Given the description of an element on the screen output the (x, y) to click on. 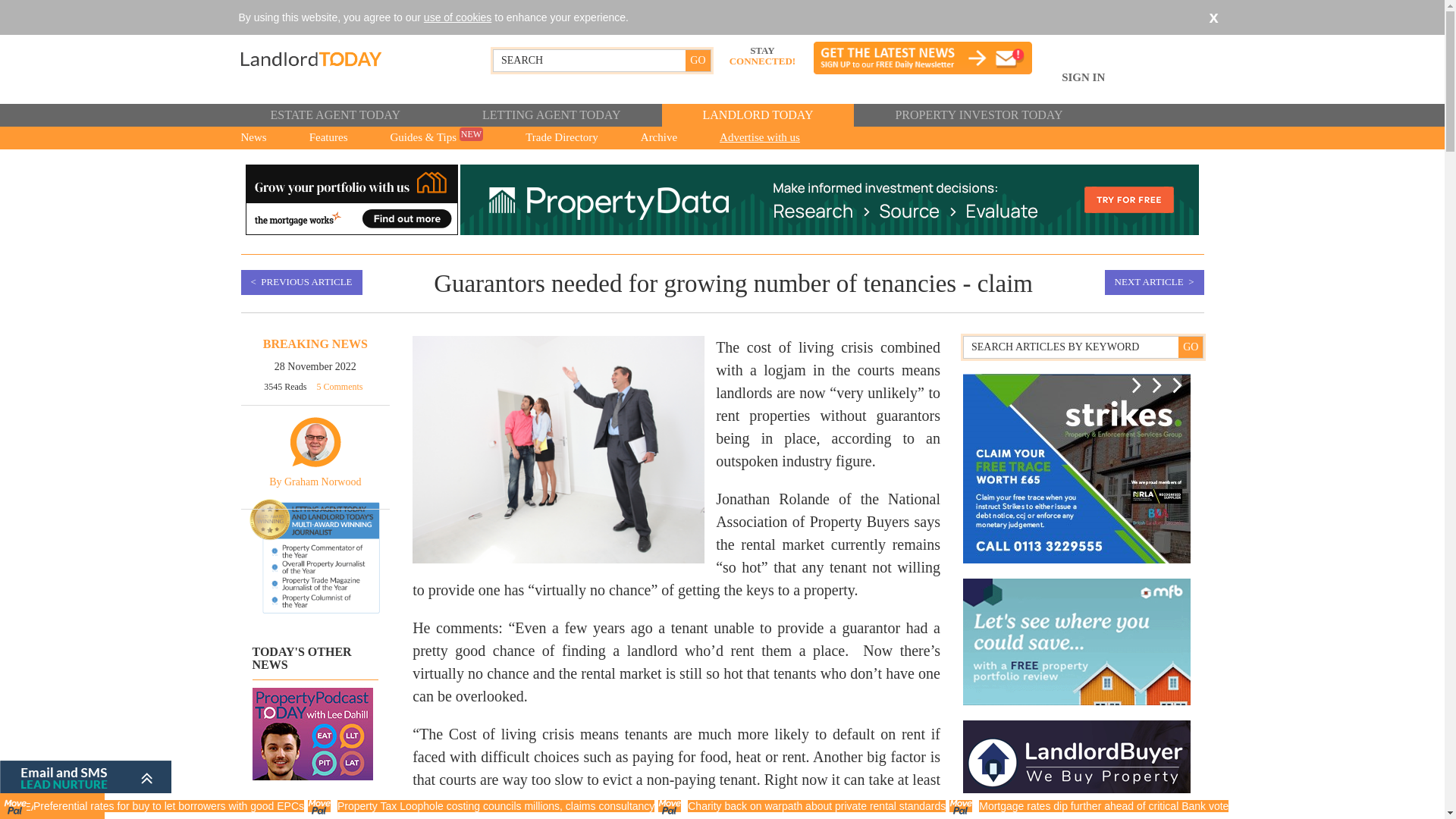
PROPERTY INVESTOR TODAY (978, 115)
LANDLORD TODAY (757, 115)
Trade Directory (561, 137)
use of cookies (457, 17)
Features (328, 137)
The Mortgage Works (352, 199)
ESTATE AGENT TODAY (334, 115)
GO (1189, 347)
LETTING AGENT TODAY (551, 115)
Archive (658, 137)
Advertise with us (759, 137)
GO (697, 60)
GO (697, 60)
Property data (829, 199)
SIGN IN (1083, 86)
